Given the description of an element on the screen output the (x, y) to click on. 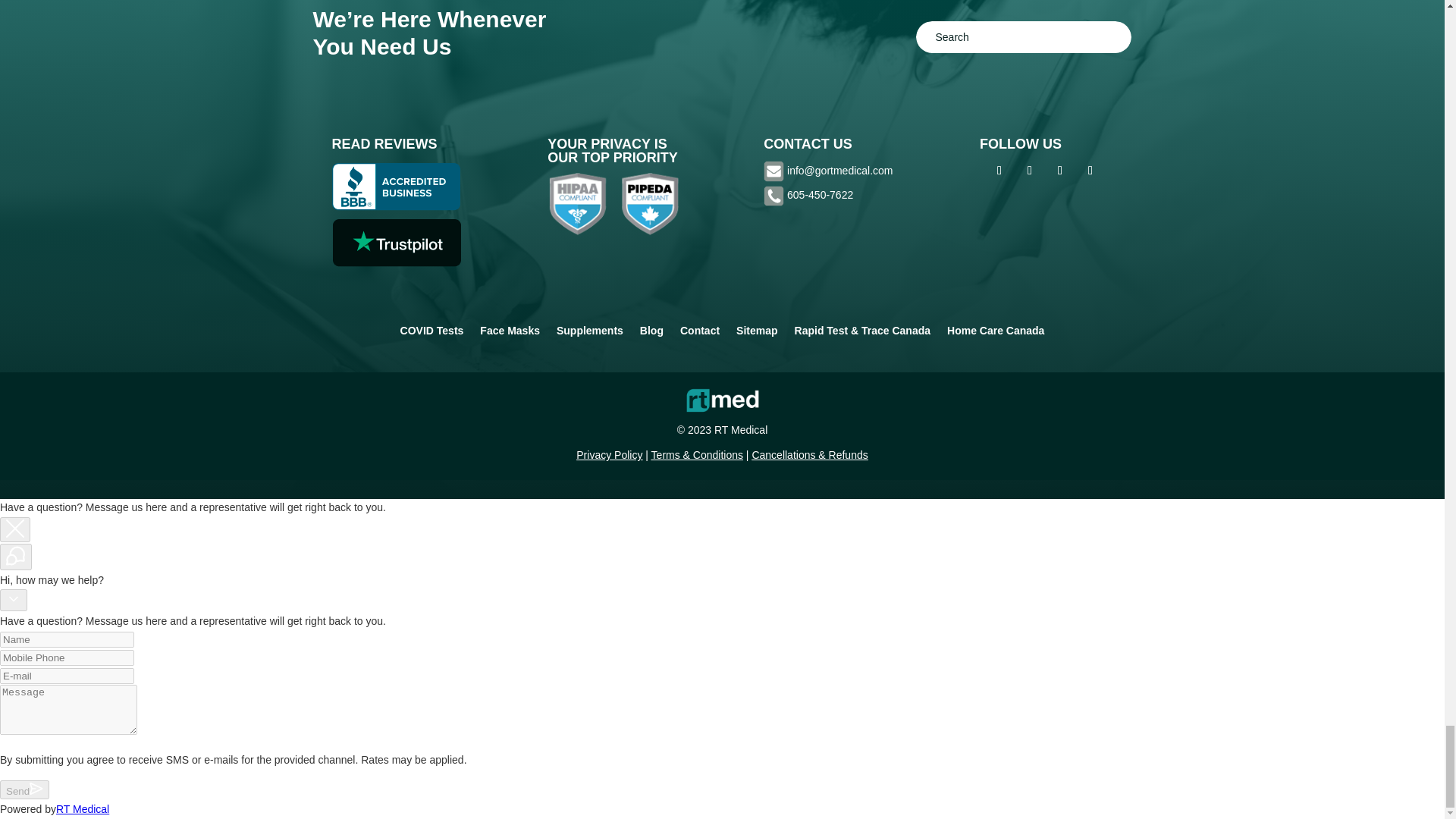
Follow on LinkedIn (1090, 170)
RT Medical Customer Support Line (820, 194)
Follow on Facebook (999, 170)
Follow on X (1059, 170)
Follow on Instagram (1029, 170)
TRUSTPILOT1 (396, 242)
BBB (396, 186)
RT-Med-Security-Privacy2 (613, 204)
